Given the description of an element on the screen output the (x, y) to click on. 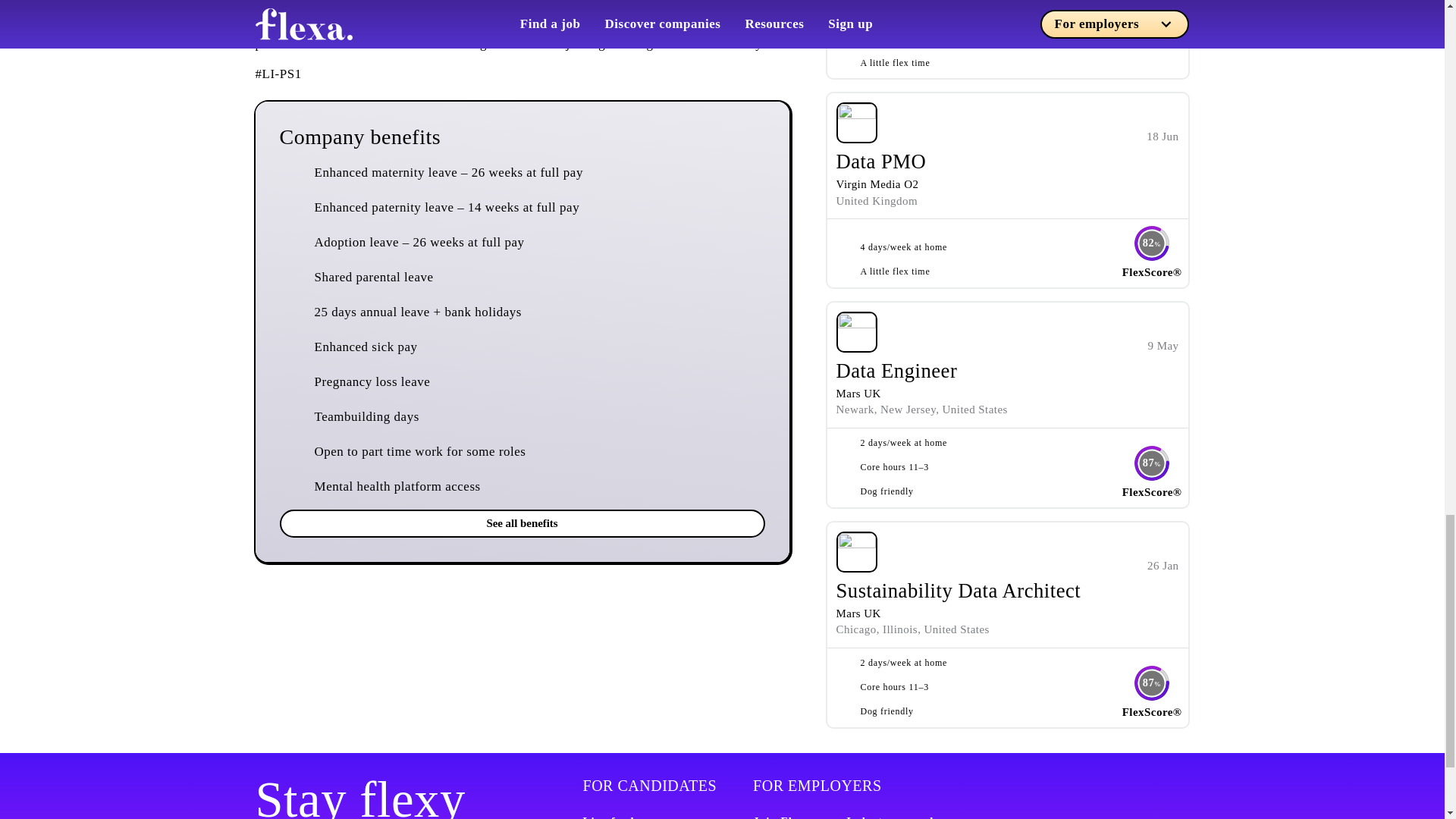
Data Engineer (895, 370)
Data PMO (880, 160)
See all benefits (521, 523)
Virgin Media O2 (876, 184)
Industry awards (892, 816)
Mars UK (857, 613)
Mars UK (857, 393)
Sustainability Data Architect (957, 590)
Join Flexa (781, 816)
Live feed (607, 816)
